Given the description of an element on the screen output the (x, y) to click on. 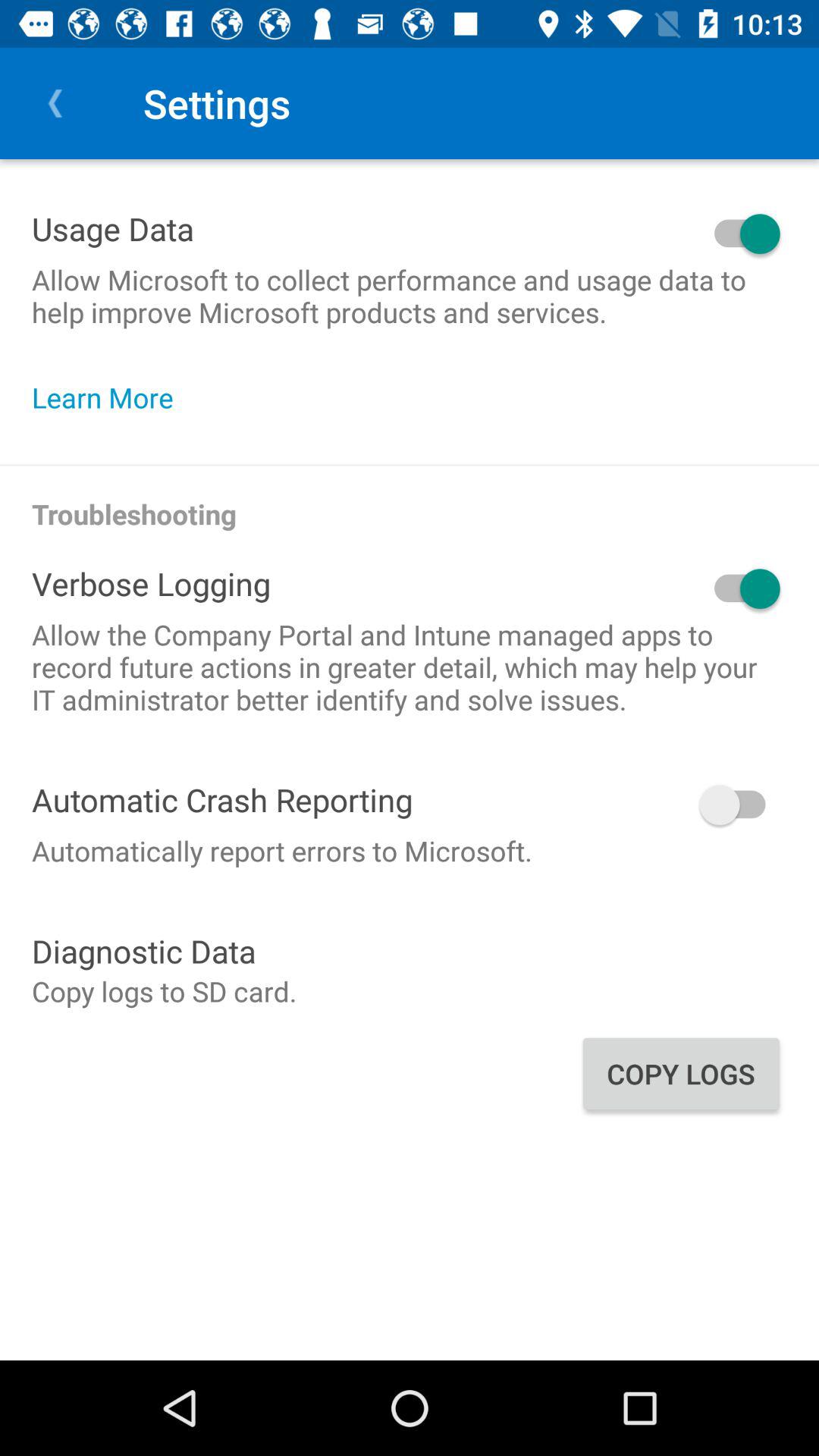
launch the item below the allow microsoft to item (110, 397)
